Given the description of an element on the screen output the (x, y) to click on. 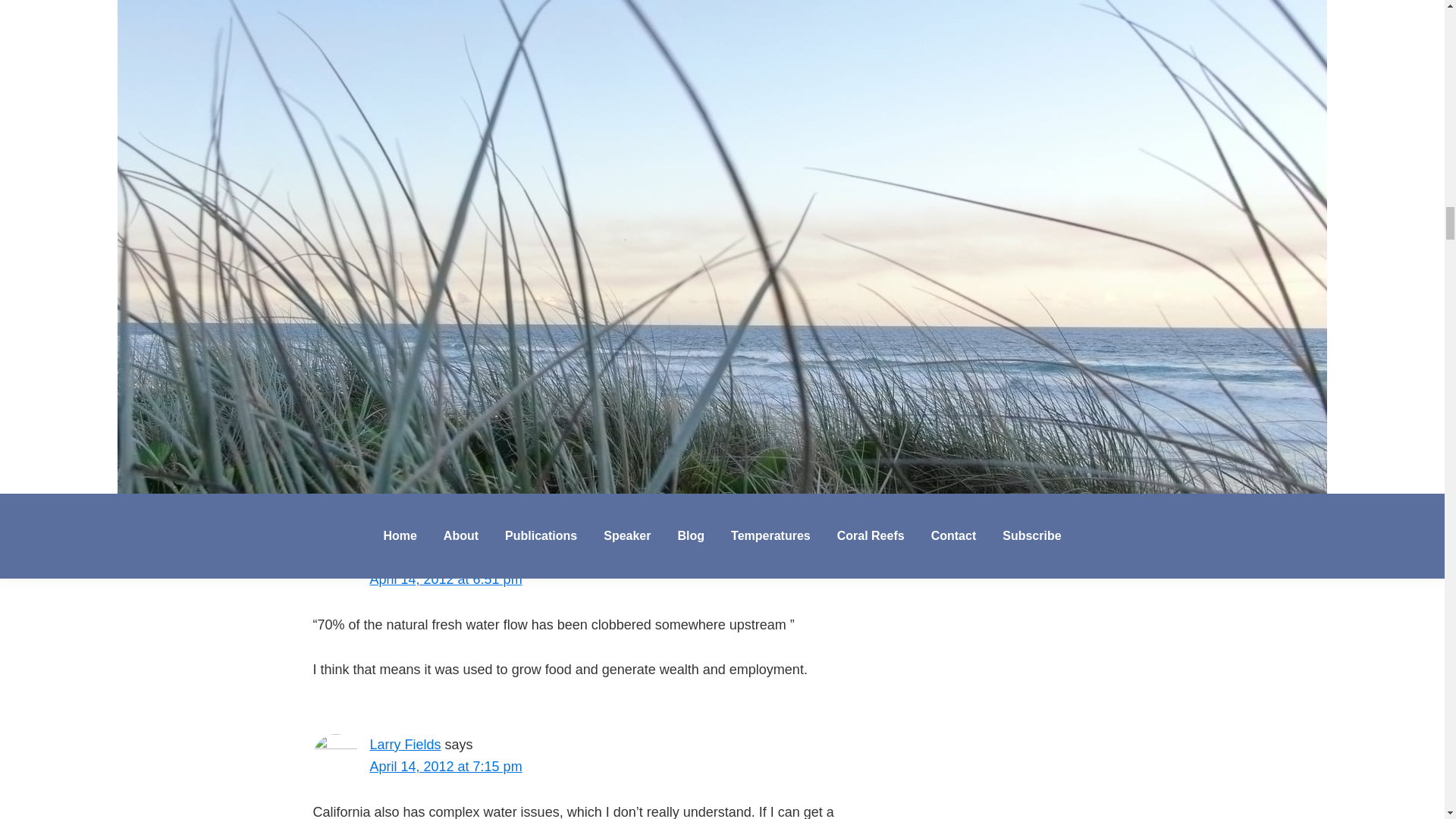
April 14, 2012 at 7:15 pm (445, 766)
April 14, 2012 at 5:54 pm (445, 49)
April 14, 2012 at 6:51 pm (445, 579)
Robert (389, 557)
Larry Fields (405, 744)
April 14, 2012 at 6:39 pm (445, 258)
